Given the description of an element on the screen output the (x, y) to click on. 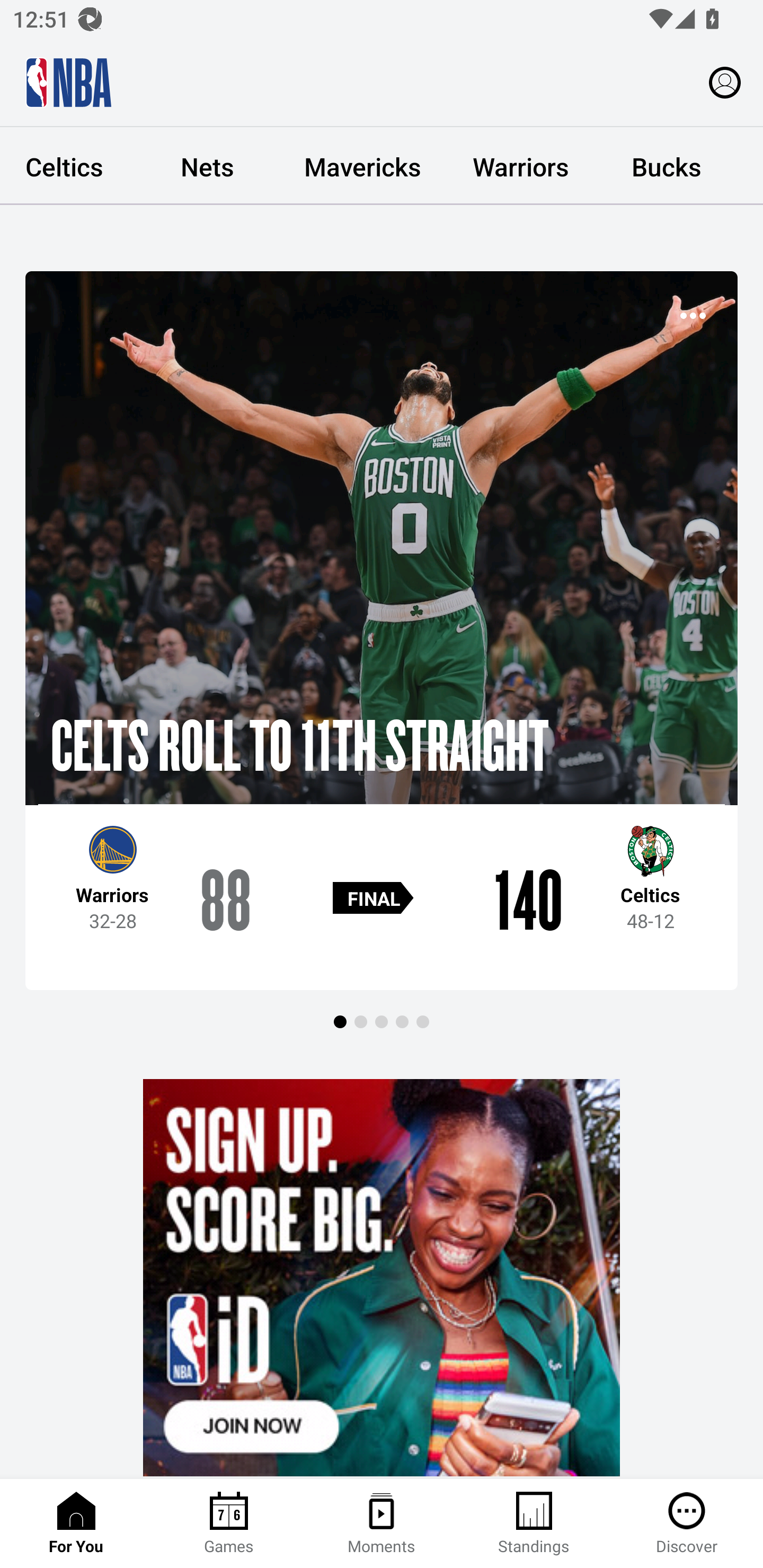
Profile (724, 81)
Celtics (67, 166)
Nets (206, 166)
Mavericks (362, 166)
Warriors (521, 166)
Bucks (666, 166)
Games (228, 1523)
Moments (381, 1523)
Standings (533, 1523)
Discover (686, 1523)
